Given the description of an element on the screen output the (x, y) to click on. 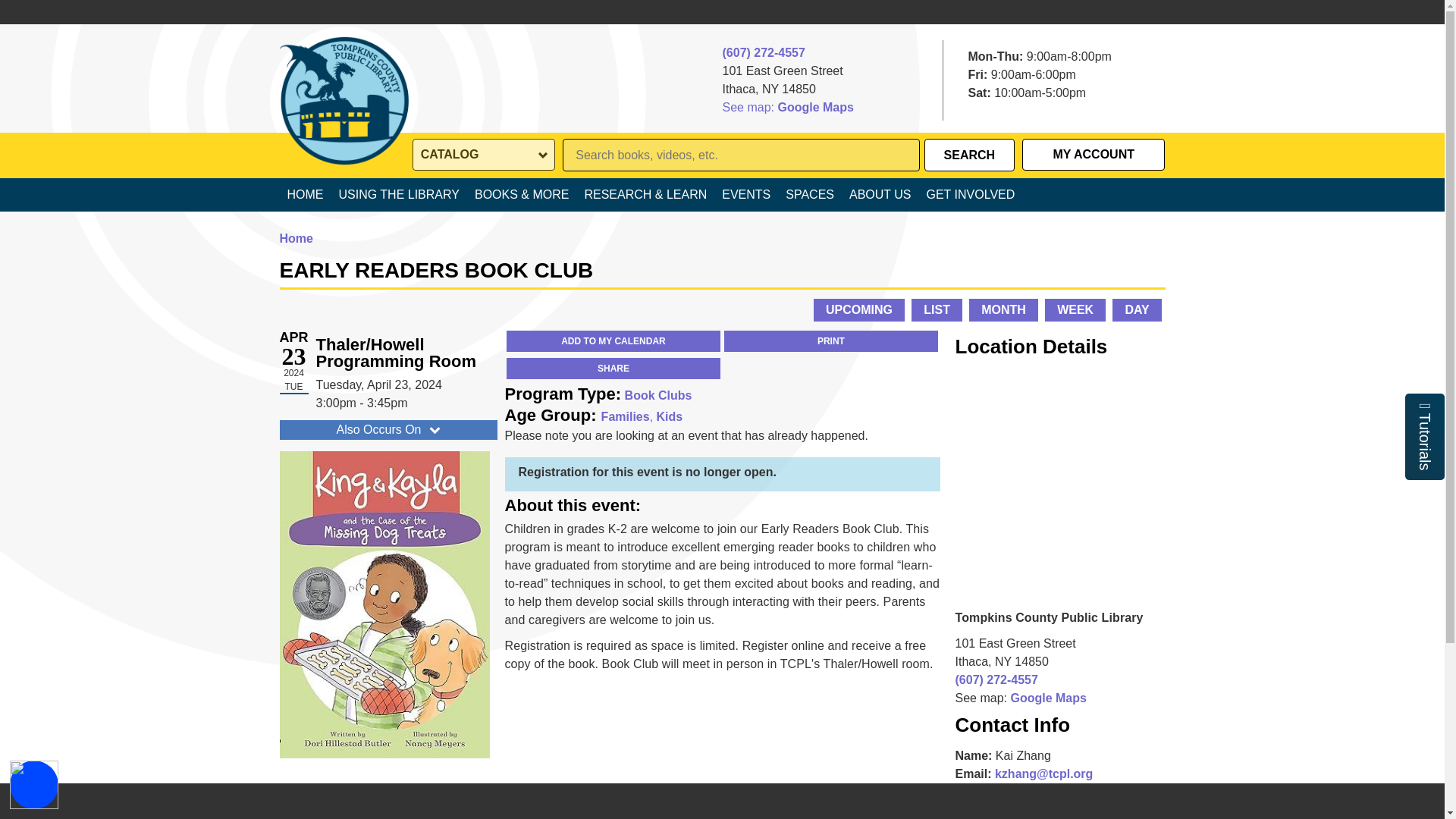
MY ACCOUNT (1093, 154)
Google Maps (815, 107)
Home (343, 74)
Search (969, 154)
Accessibility Menu (34, 784)
Share this event (612, 368)
HOME (304, 194)
Add To My Calendar (612, 341)
Search (969, 154)
Search (969, 154)
Print this event (830, 341)
